Given the description of an element on the screen output the (x, y) to click on. 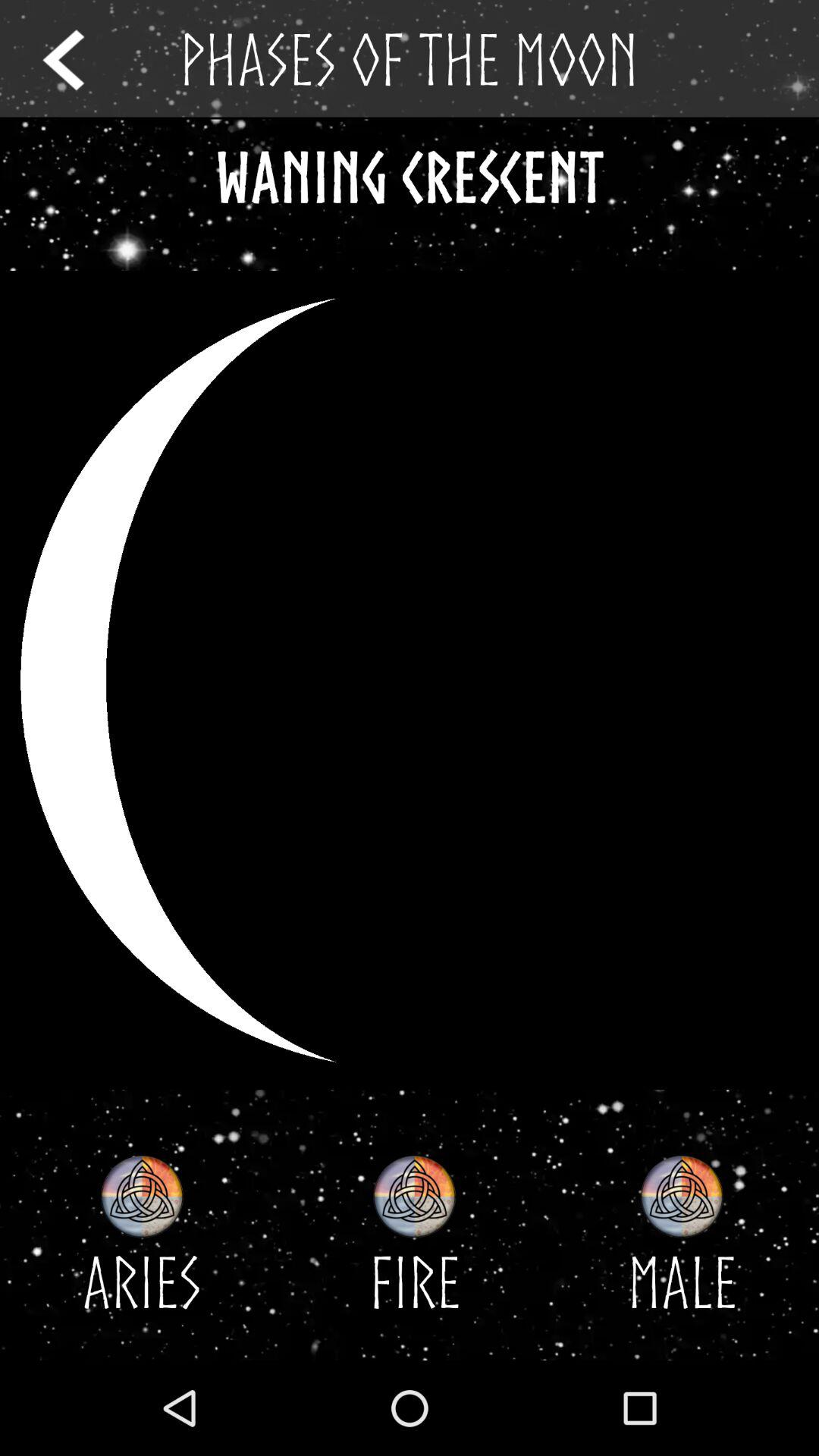
return to the previous page (77, 59)
